Given the description of an element on the screen output the (x, y) to click on. 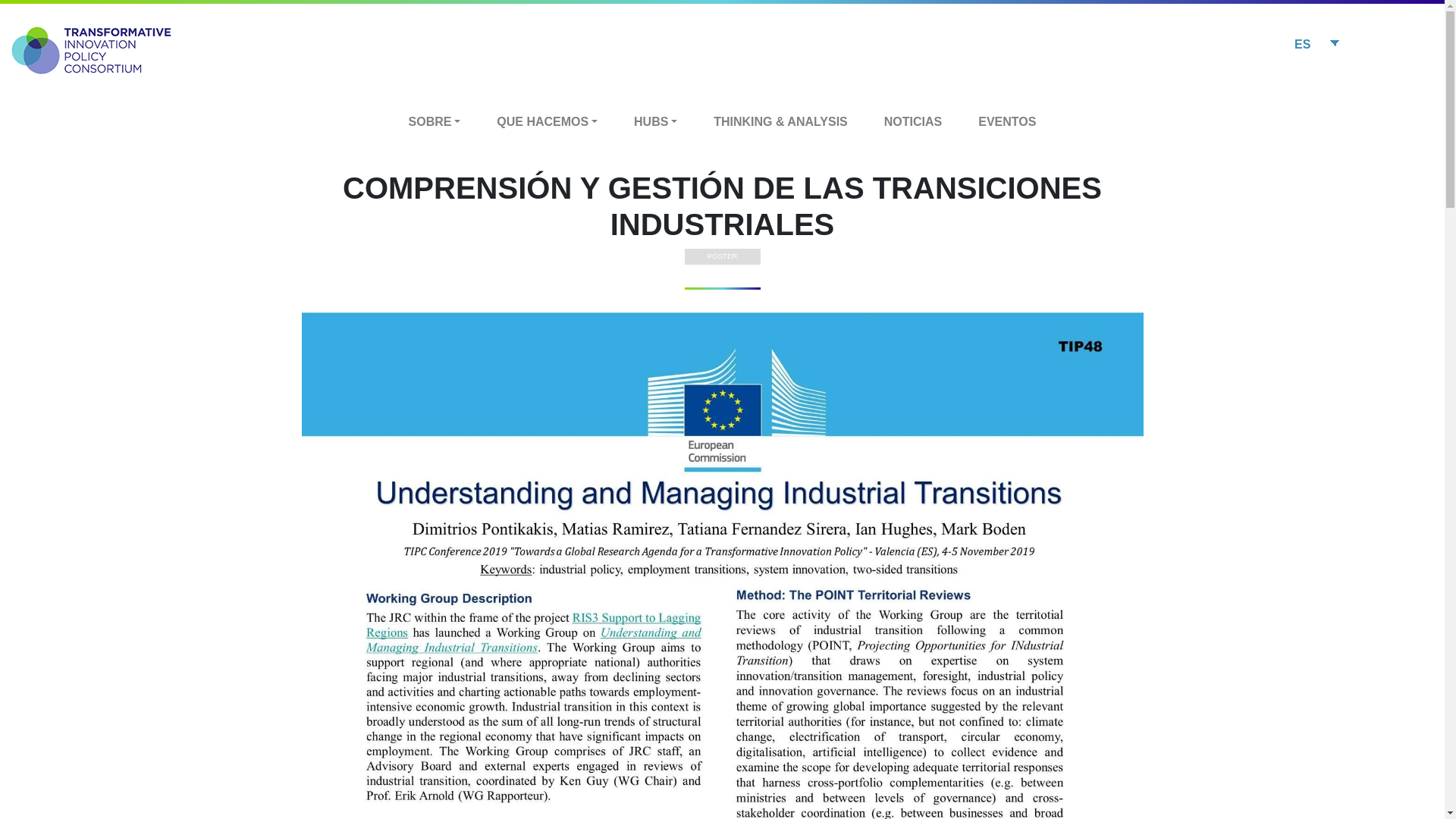
QUE HACEMOS (547, 121)
NOTICIAS (912, 121)
ES (1314, 44)
EVENTOS (1006, 121)
Hubs (655, 121)
Sobre (434, 121)
HUBS (655, 121)
Que hacemos (547, 121)
Spanish (1314, 44)
SOBRE (434, 121)
